Given the description of an element on the screen output the (x, y) to click on. 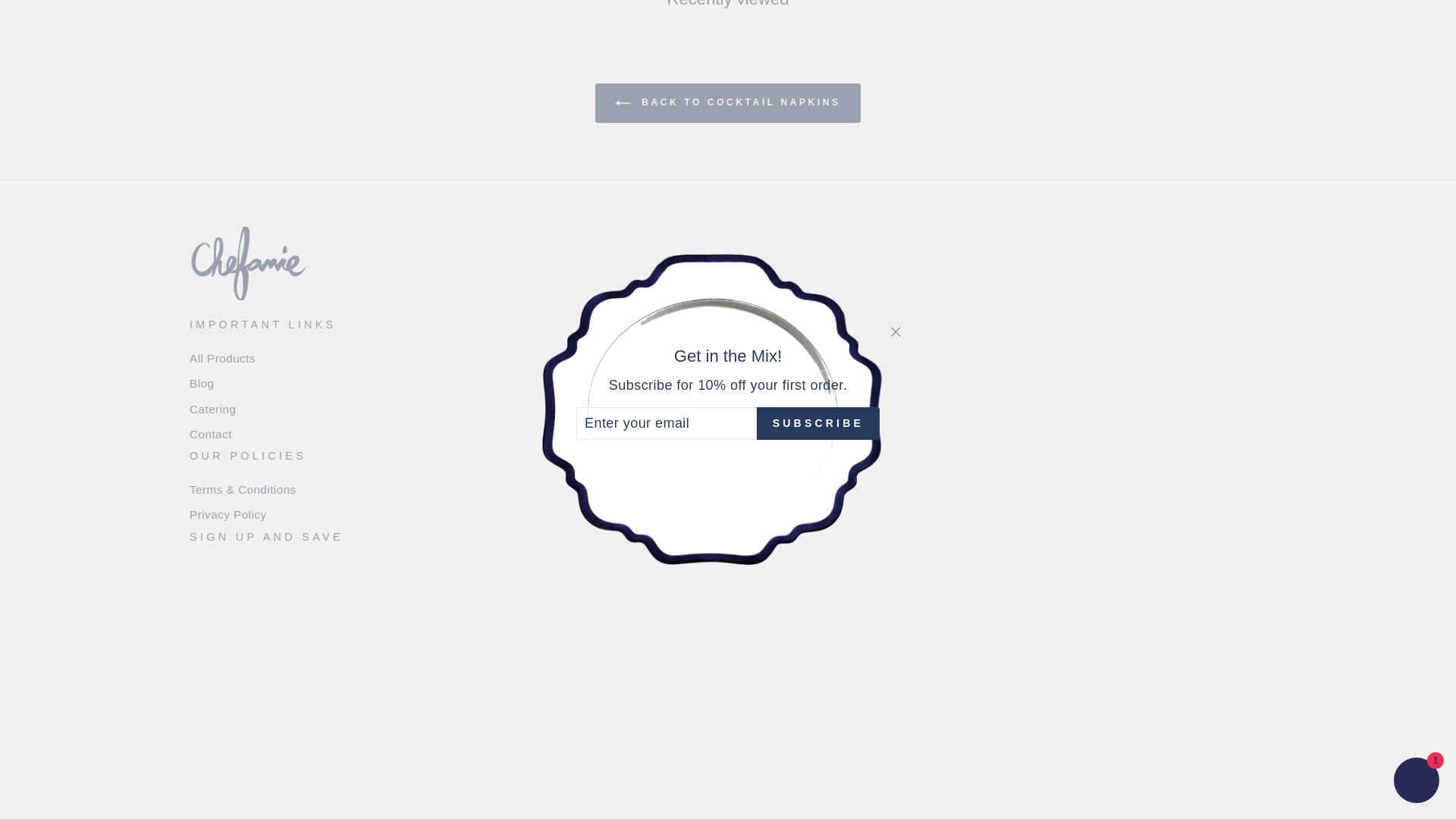
Google Pay (727, 703)
Mastercard (762, 703)
Diners Club (622, 703)
Visa (902, 703)
Venmo (867, 703)
Shop Pay (832, 703)
Meta Pay (692, 703)
PayPal (797, 703)
Discover (657, 703)
American Express (552, 703)
Apple Pay (587, 703)
